Given the description of an element on the screen output the (x, y) to click on. 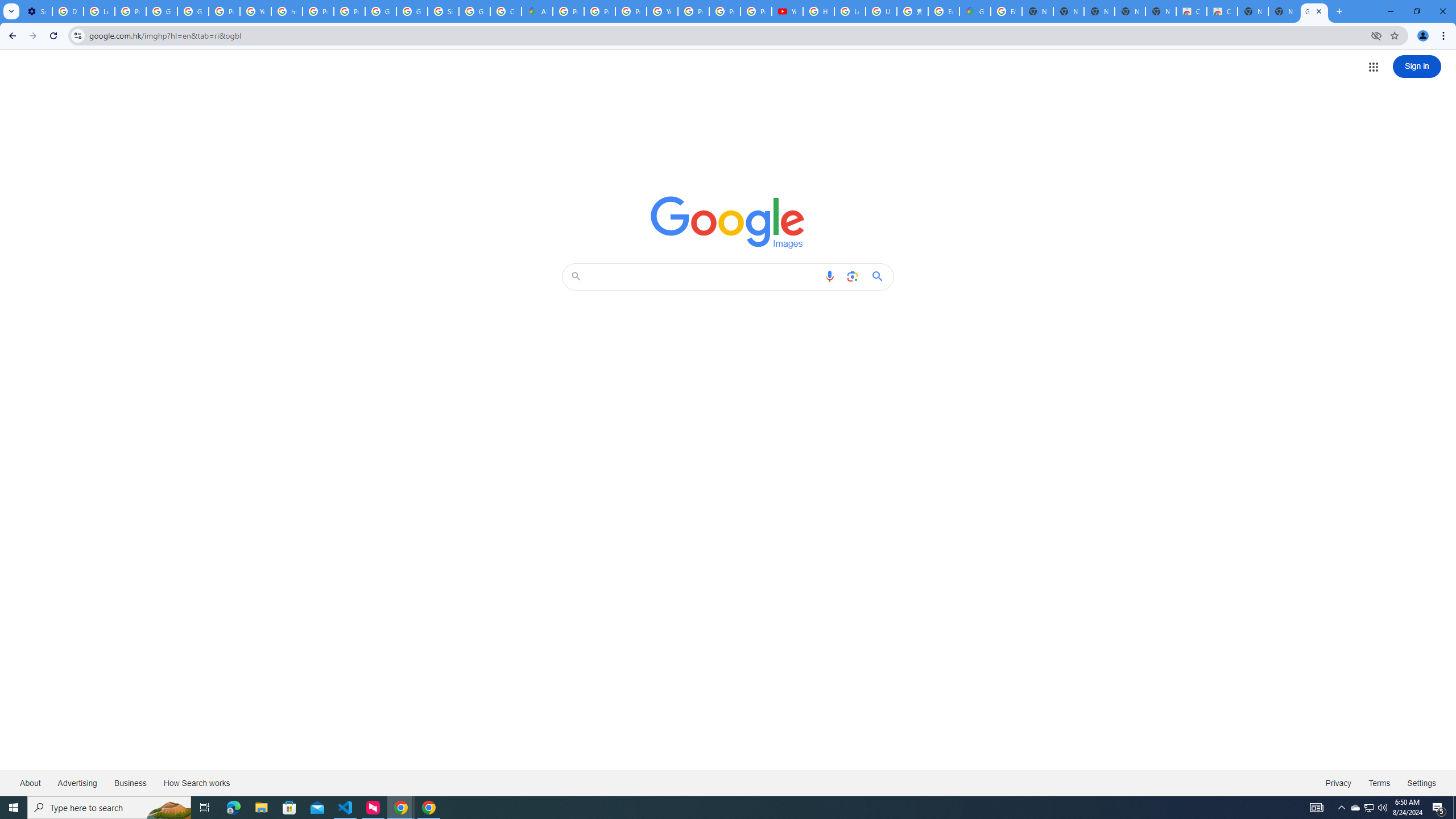
Advertising (77, 782)
Privacy Help Center - Policies Help (318, 11)
Google Search (880, 276)
YouTube (787, 11)
How Chrome protects your passwords - Google Chrome Help (818, 11)
Privacy Checkup (724, 11)
Privacy Checkup (756, 11)
Explore new street-level details - Google Maps Help (943, 11)
